Given the description of an element on the screen output the (x, y) to click on. 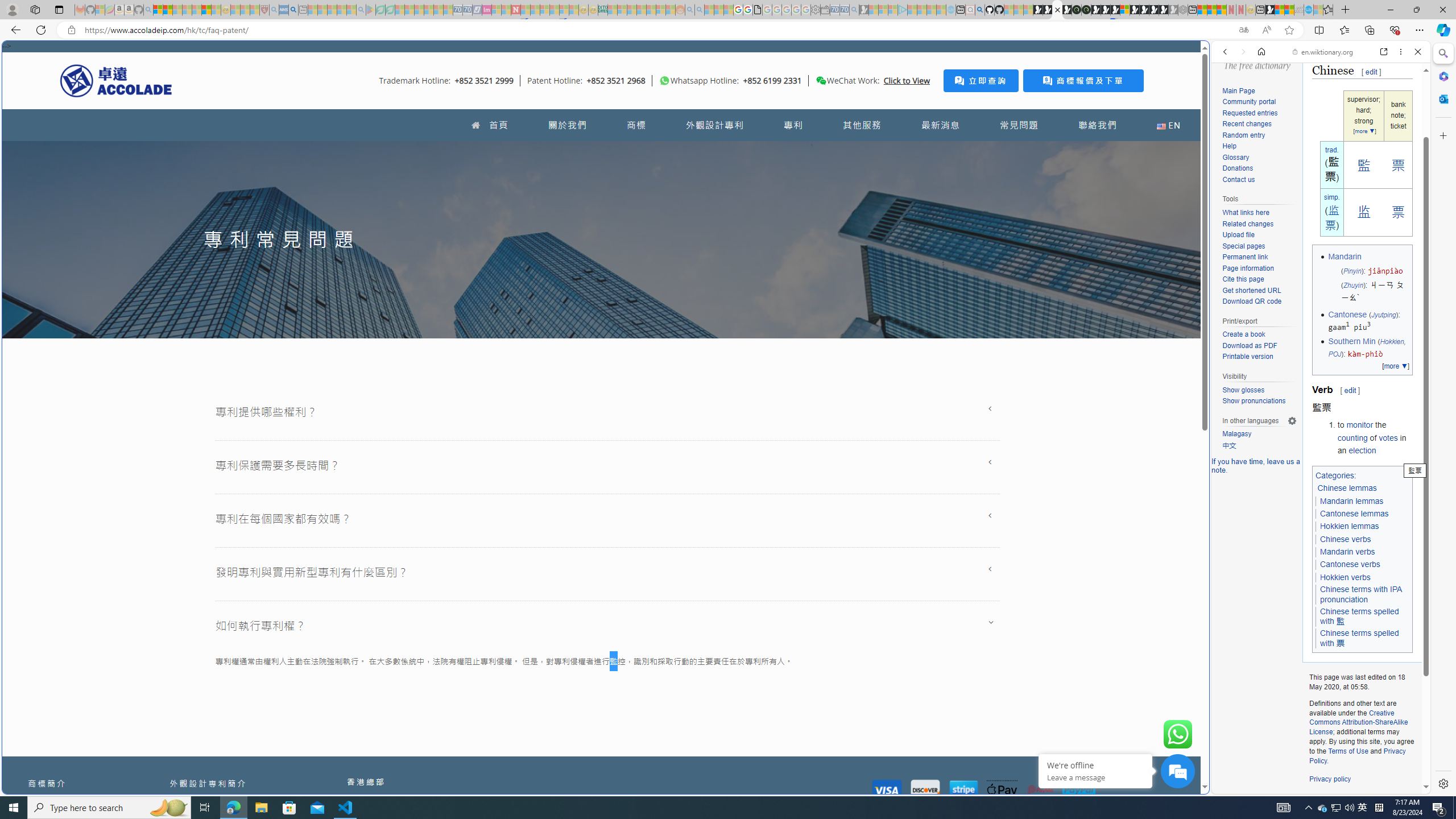
simp. (1331, 197)
What links here (1259, 212)
Wiktionary (1315, 380)
Permanent link (1259, 257)
